Given the description of an element on the screen output the (x, y) to click on. 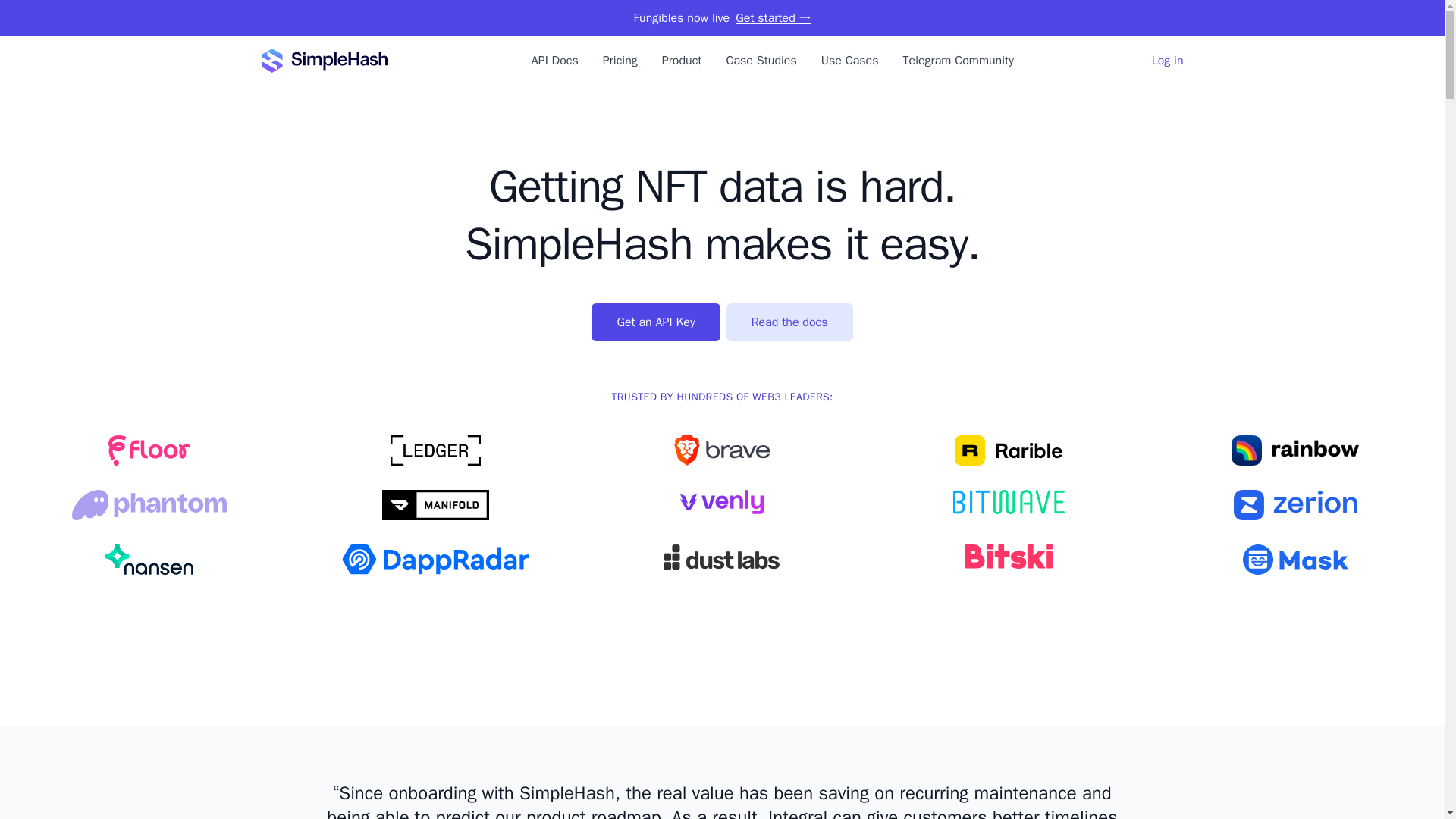
Pricing (619, 60)
Case Studies (760, 60)
Telegram Community (957, 60)
Read the docs (789, 322)
API Docs (554, 60)
Log in (1167, 60)
Use Cases (850, 60)
Get an API Key (655, 322)
Product (681, 60)
